Given the description of an element on the screen output the (x, y) to click on. 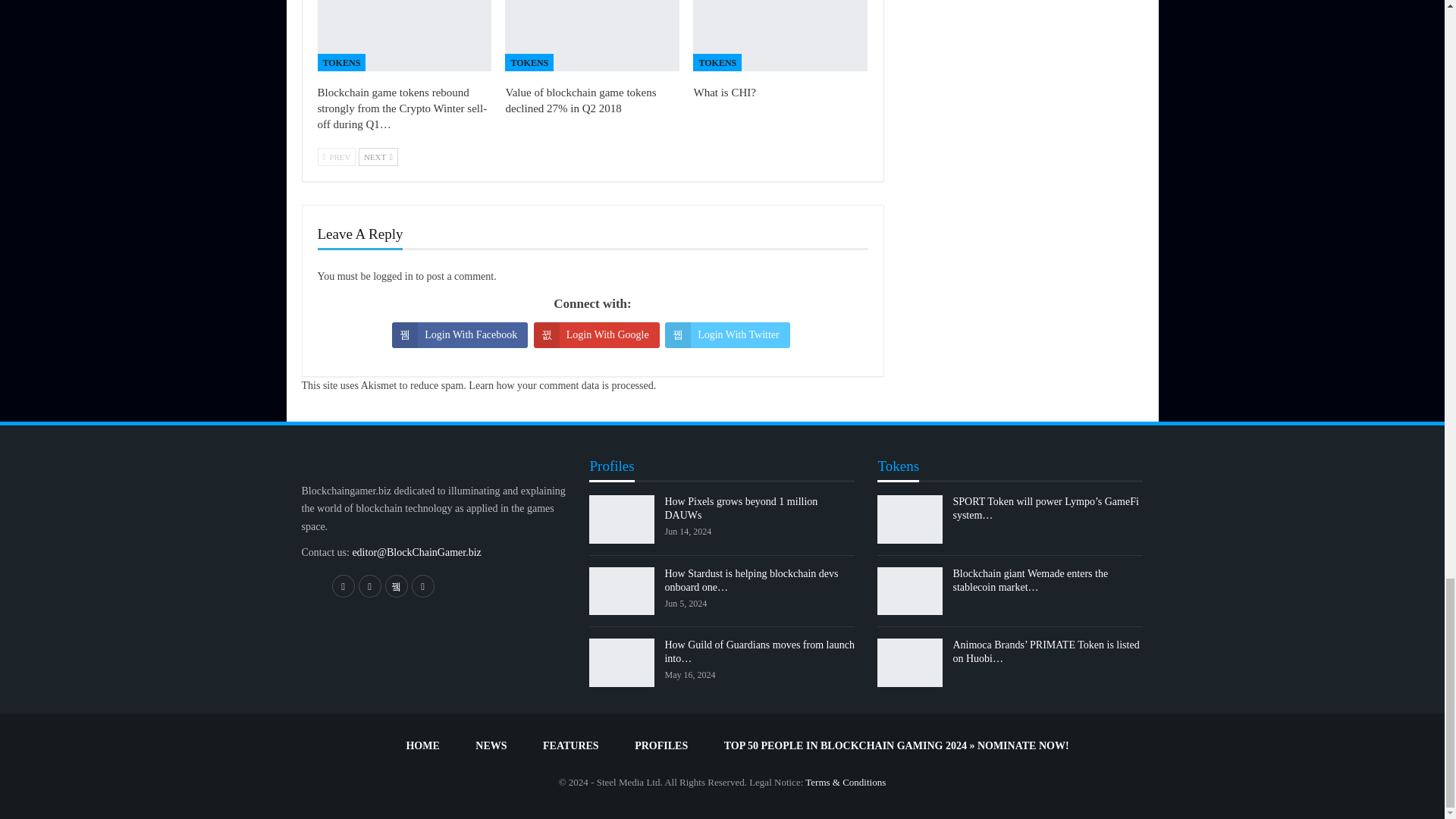
What is CHI? (780, 35)
What is CHI? (724, 92)
Previous (336, 157)
Next (377, 157)
